Given the description of an element on the screen output the (x, y) to click on. 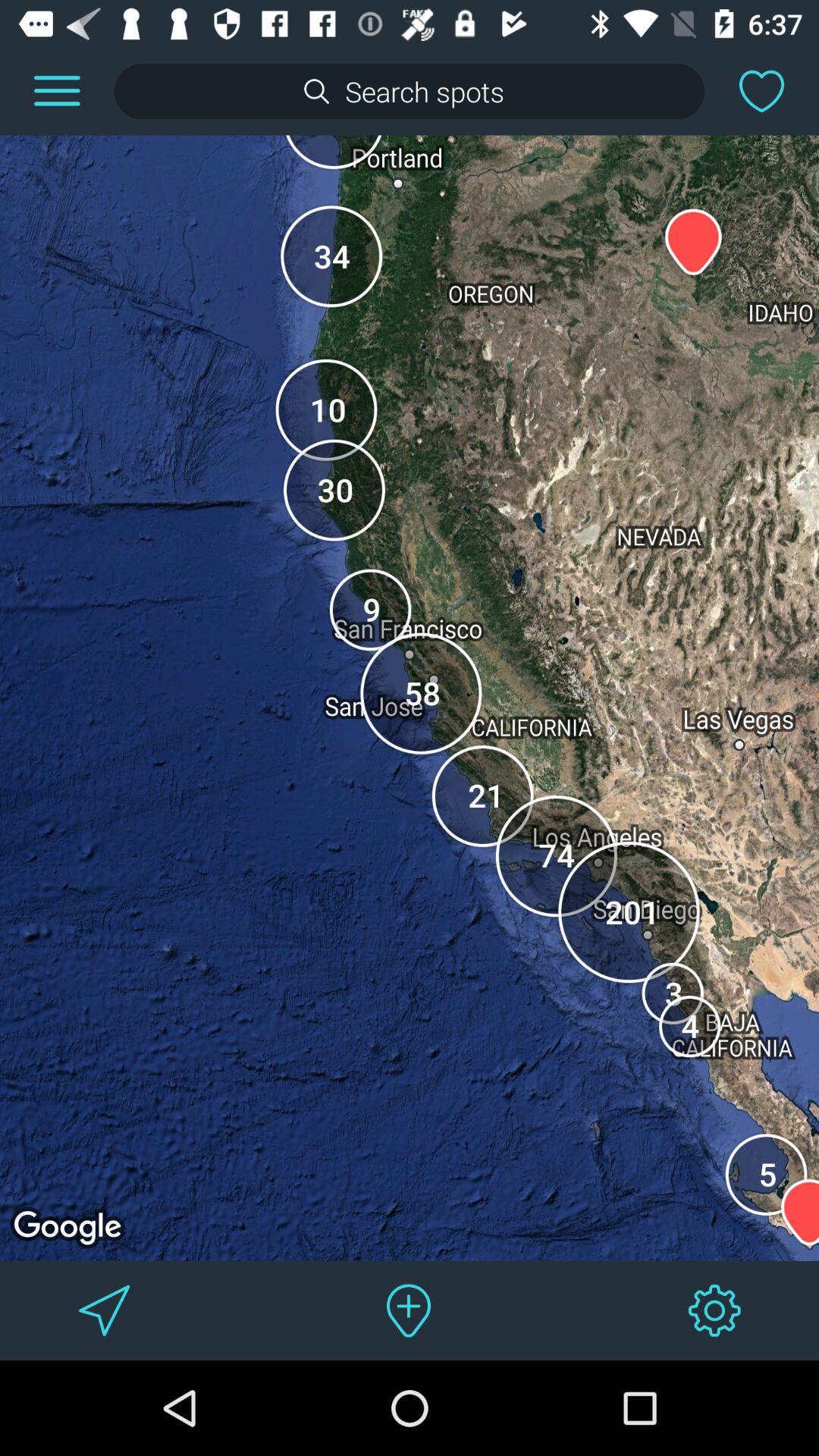
settings (714, 1310)
